Given the description of an element on the screen output the (x, y) to click on. 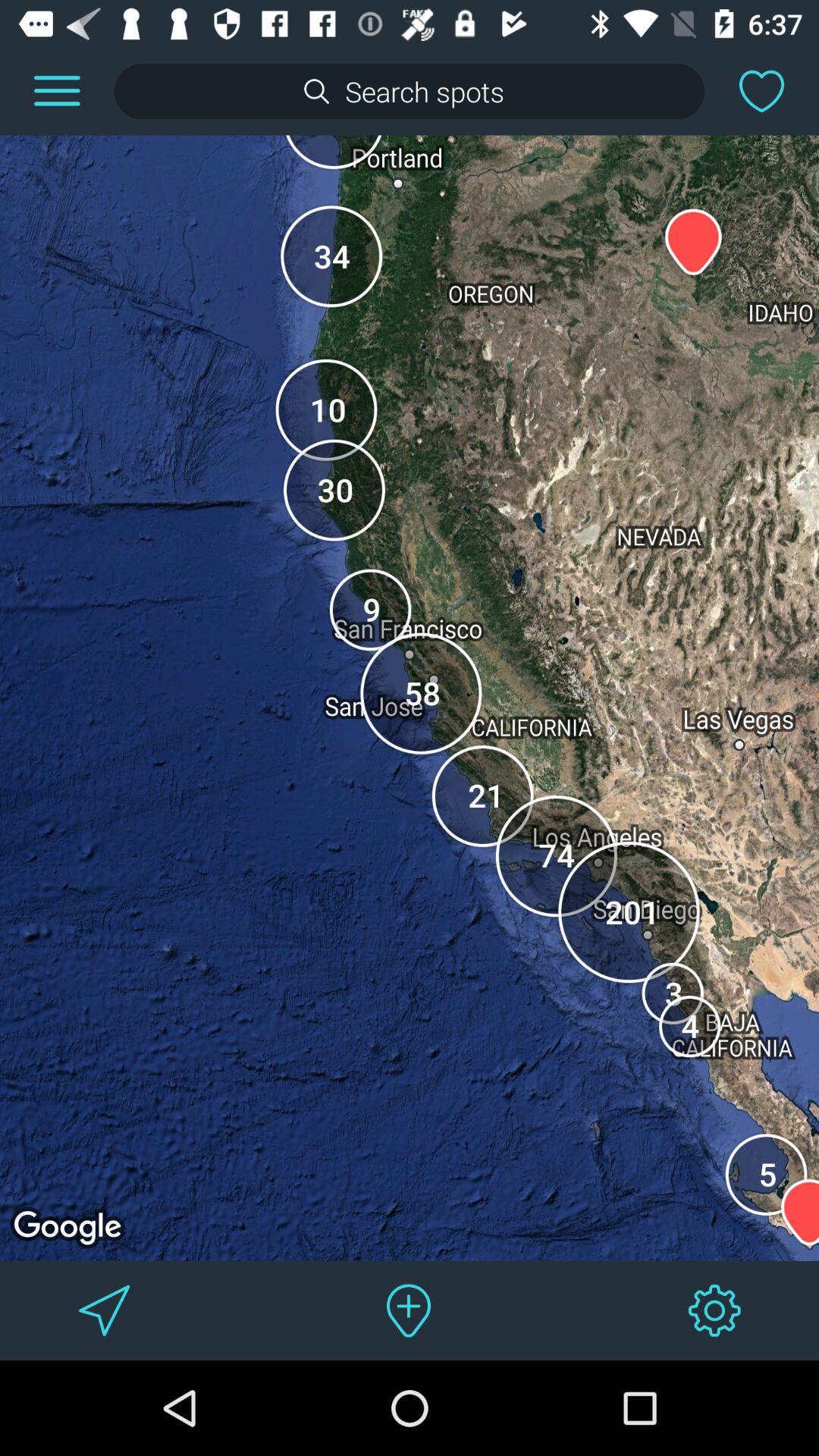
settings (714, 1310)
